Given the description of an element on the screen output the (x, y) to click on. 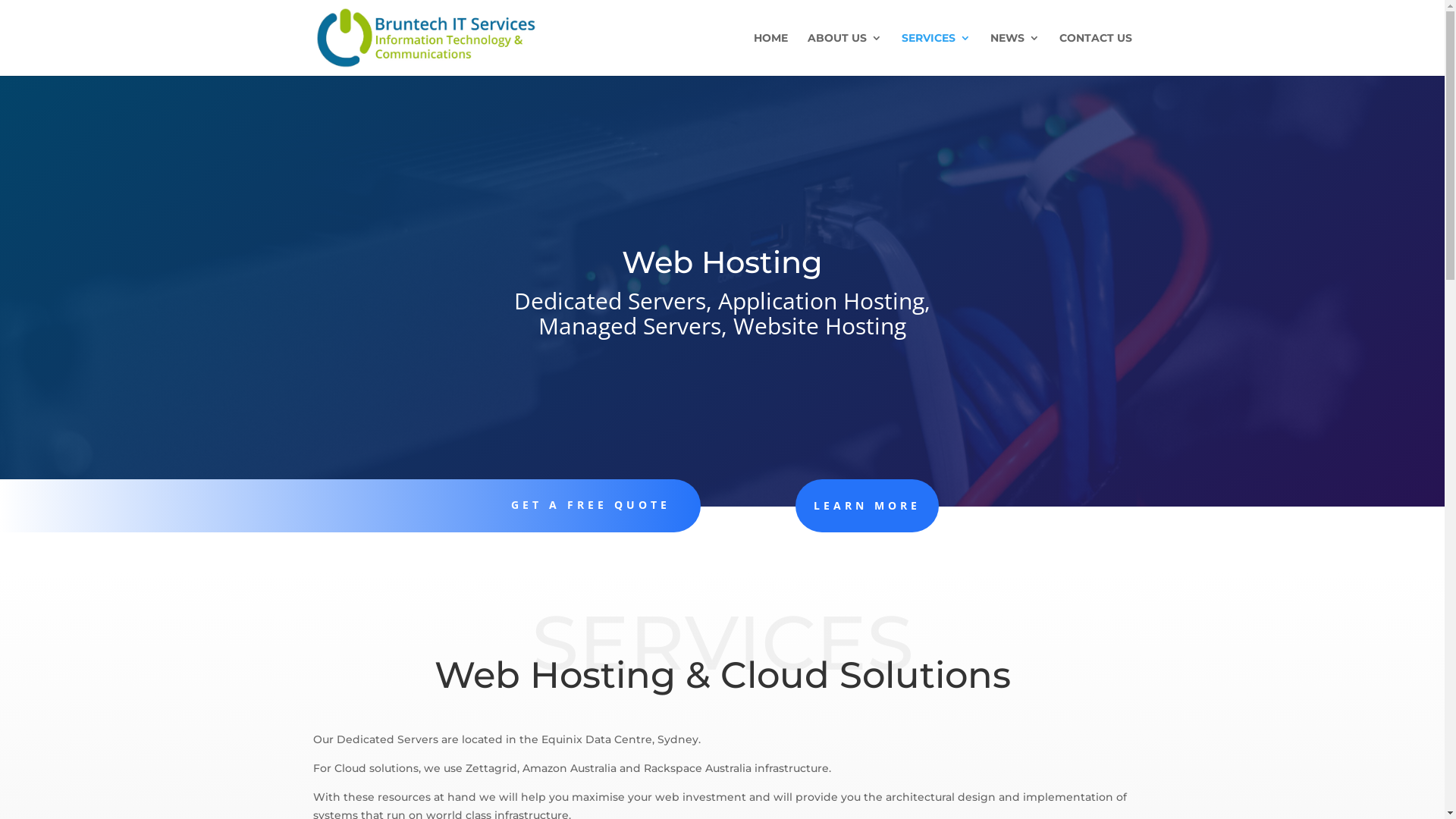
NEWS Element type: text (1014, 53)
LEARN MORE Element type: text (866, 505)
SERVICES Element type: text (934, 53)
ABOUT US Element type: text (843, 53)
CONTACT US Element type: text (1094, 53)
GET A FREE QUOTE Element type: text (590, 504)
HOME Element type: text (770, 53)
